Given the description of an element on the screen output the (x, y) to click on. 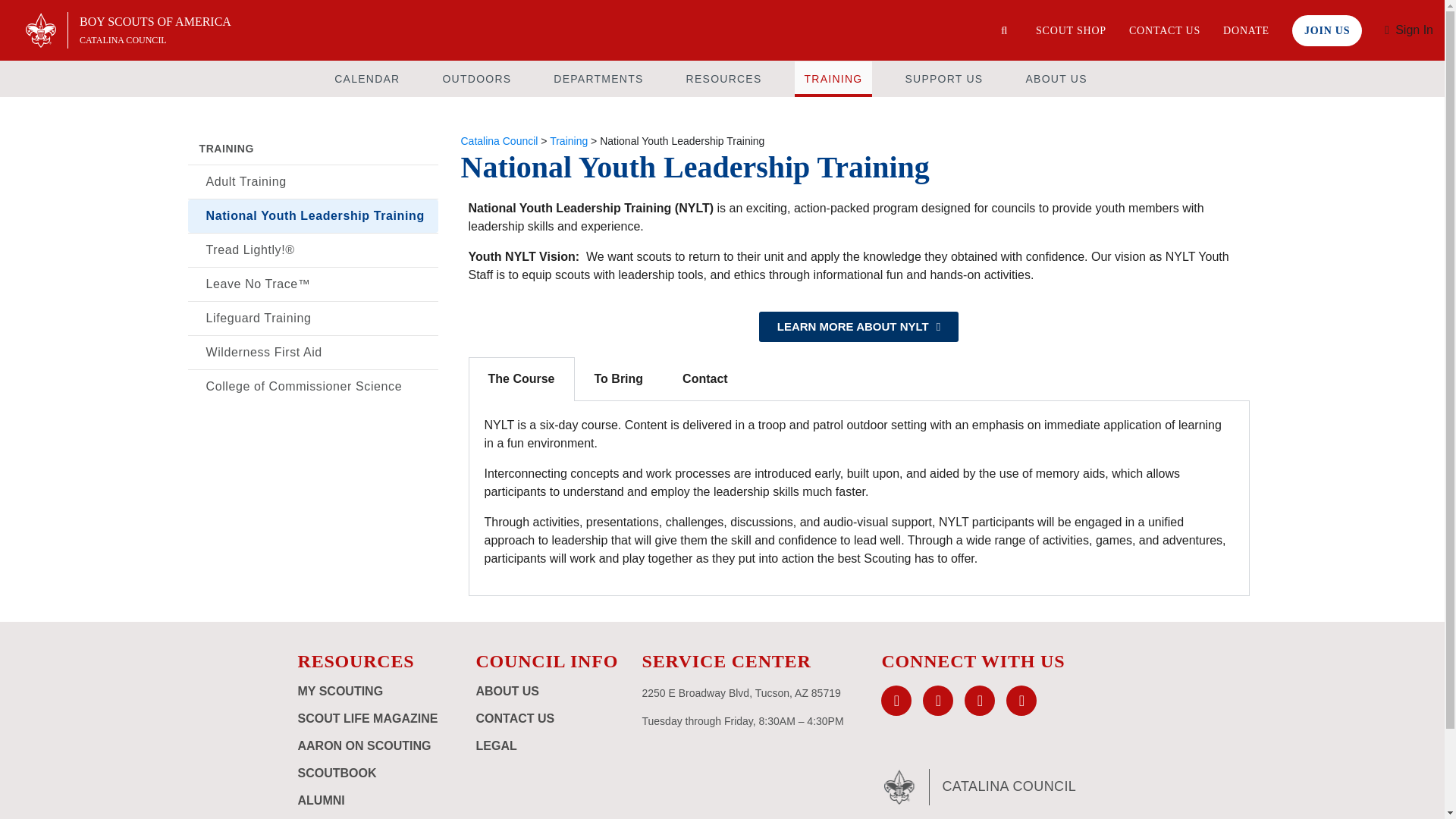
OUTDOORS (476, 78)
Donate (1246, 29)
DONATE (1246, 29)
SCOUT SHOP (1070, 29)
JOIN US (1326, 30)
Search (1004, 30)
Join Us (1326, 30)
CALENDAR (366, 78)
Calendar (366, 78)
Contact Us (1164, 29)
